Given the description of an element on the screen output the (x, y) to click on. 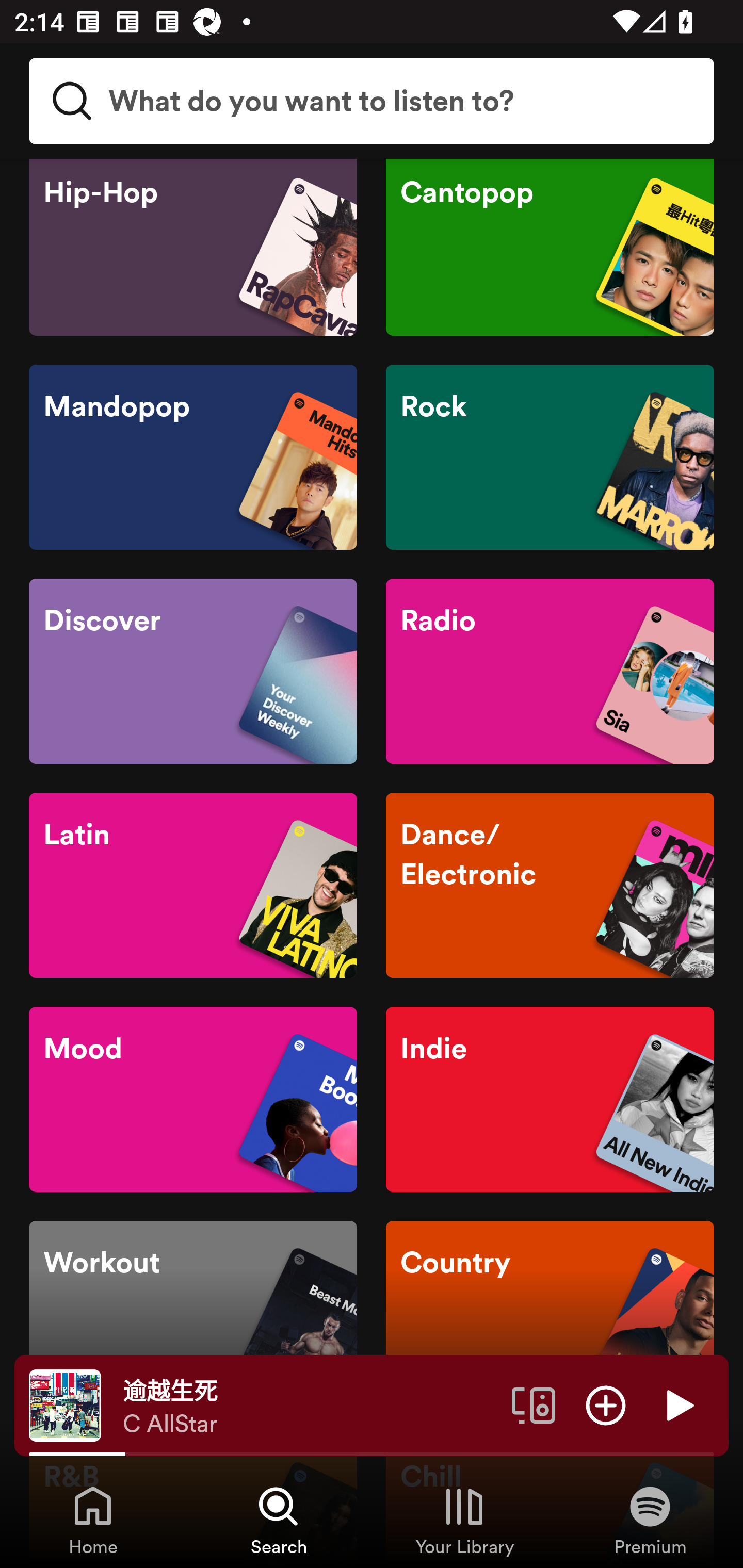
Hip-Hop (192, 246)
Cantopop (549, 246)
Mandopop (192, 457)
Rock (549, 457)
Discover (192, 670)
Radio (549, 670)
Latin (192, 885)
Dance/Electronic (549, 885)
Mood (192, 1098)
Indie (549, 1098)
Workout (192, 1313)
Country (549, 1313)
逾越生死 C AllStar (309, 1405)
The cover art of the currently playing track (64, 1404)
Connect to a device. Opens the devices menu (533, 1404)
Add item (605, 1404)
Play (677, 1404)
Home, Tab 1 of 4 Home Home (92, 1519)
Search, Tab 2 of 4 Search Search (278, 1519)
Your Library, Tab 3 of 4 Your Library Your Library (464, 1519)
Premium, Tab 4 of 4 Premium Premium (650, 1519)
